Given the description of an element on the screen output the (x, y) to click on. 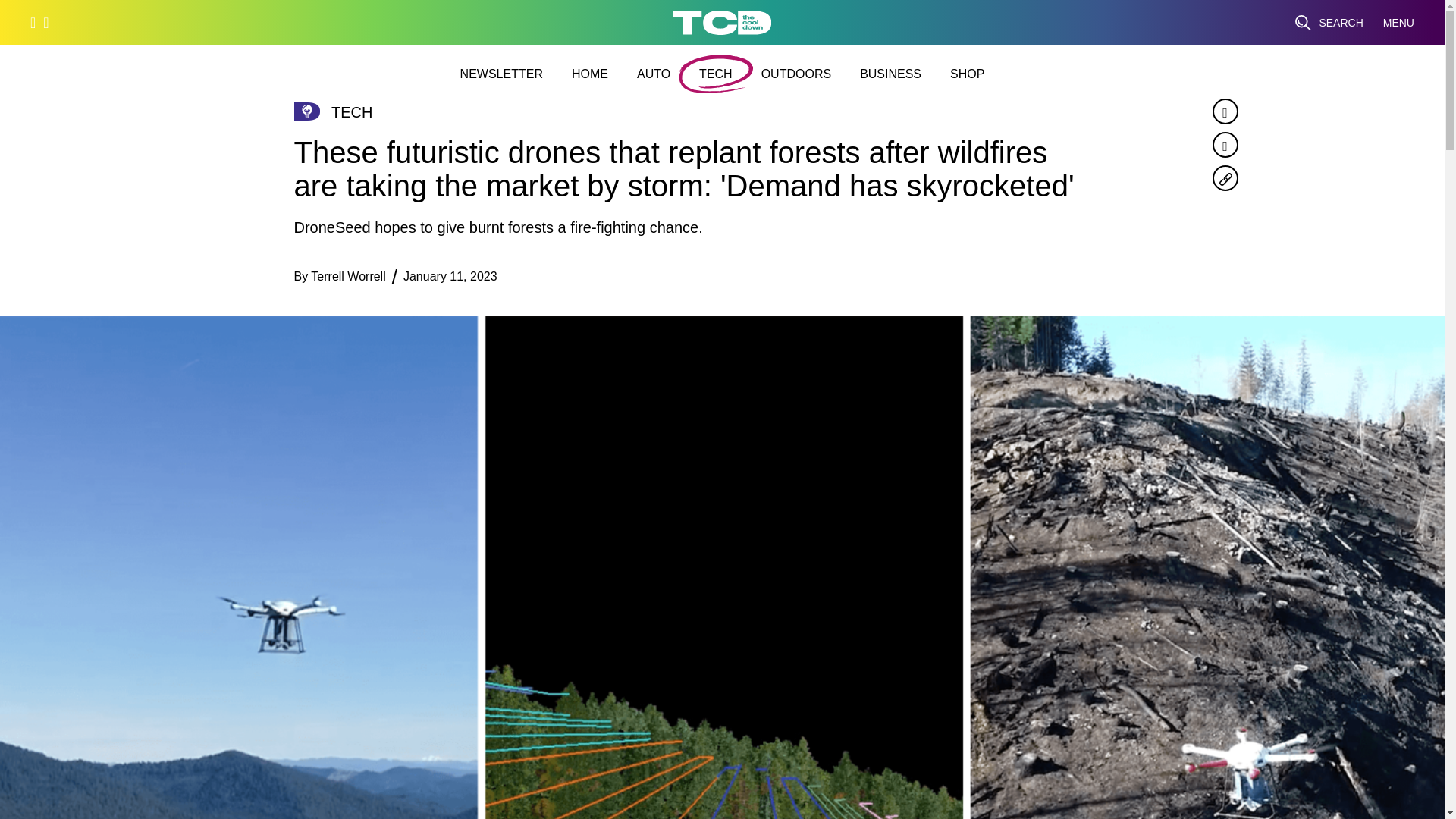
SHOP (967, 73)
AUTO (653, 73)
HOME (590, 73)
TECH (715, 73)
SEARCH (1328, 22)
BUSINESS (890, 73)
Facebook (1224, 111)
NEWSLETTER (501, 73)
Twitter (1224, 144)
MENU (1398, 22)
